Given the description of an element on the screen output the (x, y) to click on. 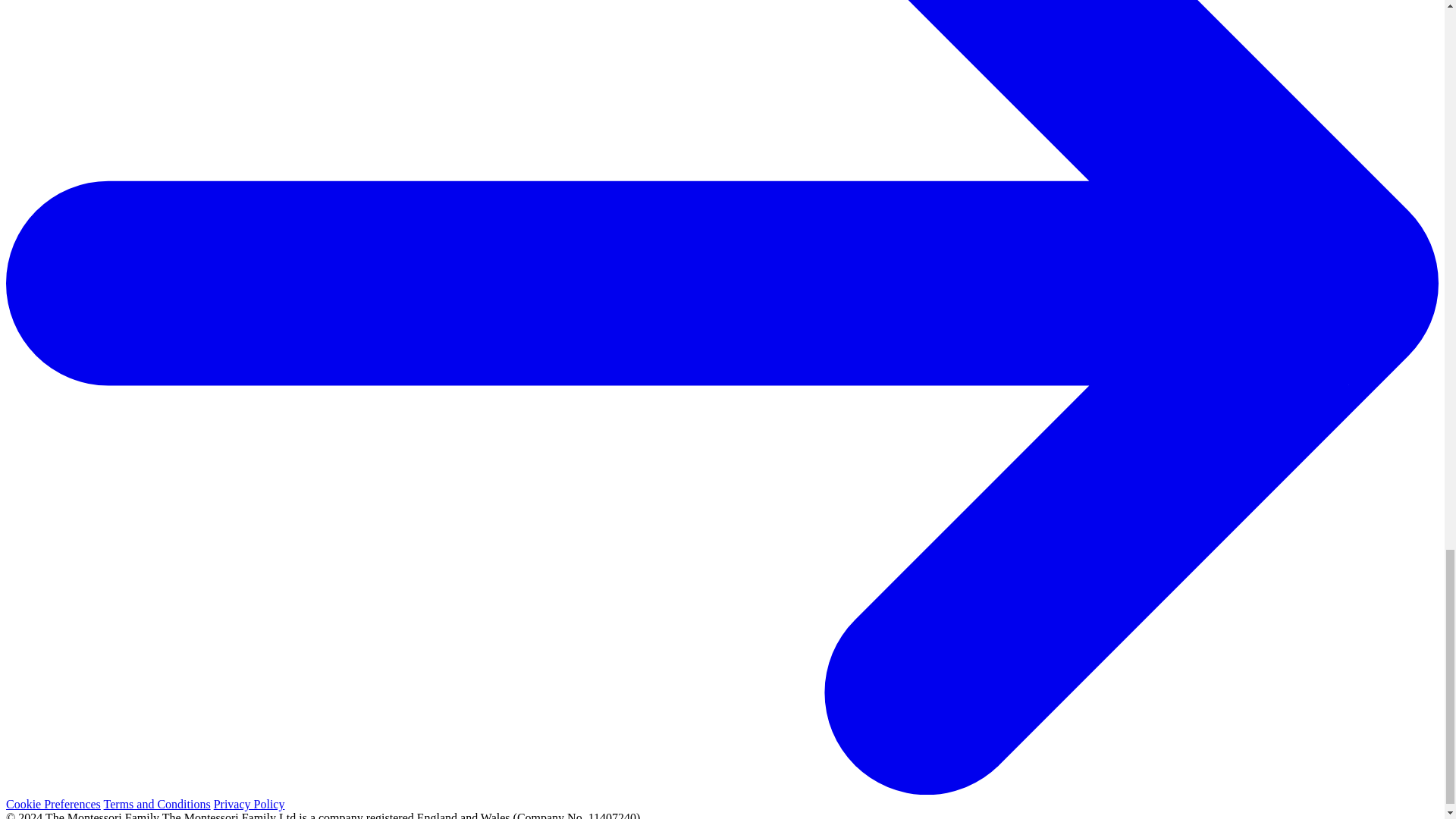
Terms and Conditions (157, 803)
Privacy Policy (249, 803)
Cookie Preferences (52, 803)
